Given the description of an element on the screen output the (x, y) to click on. 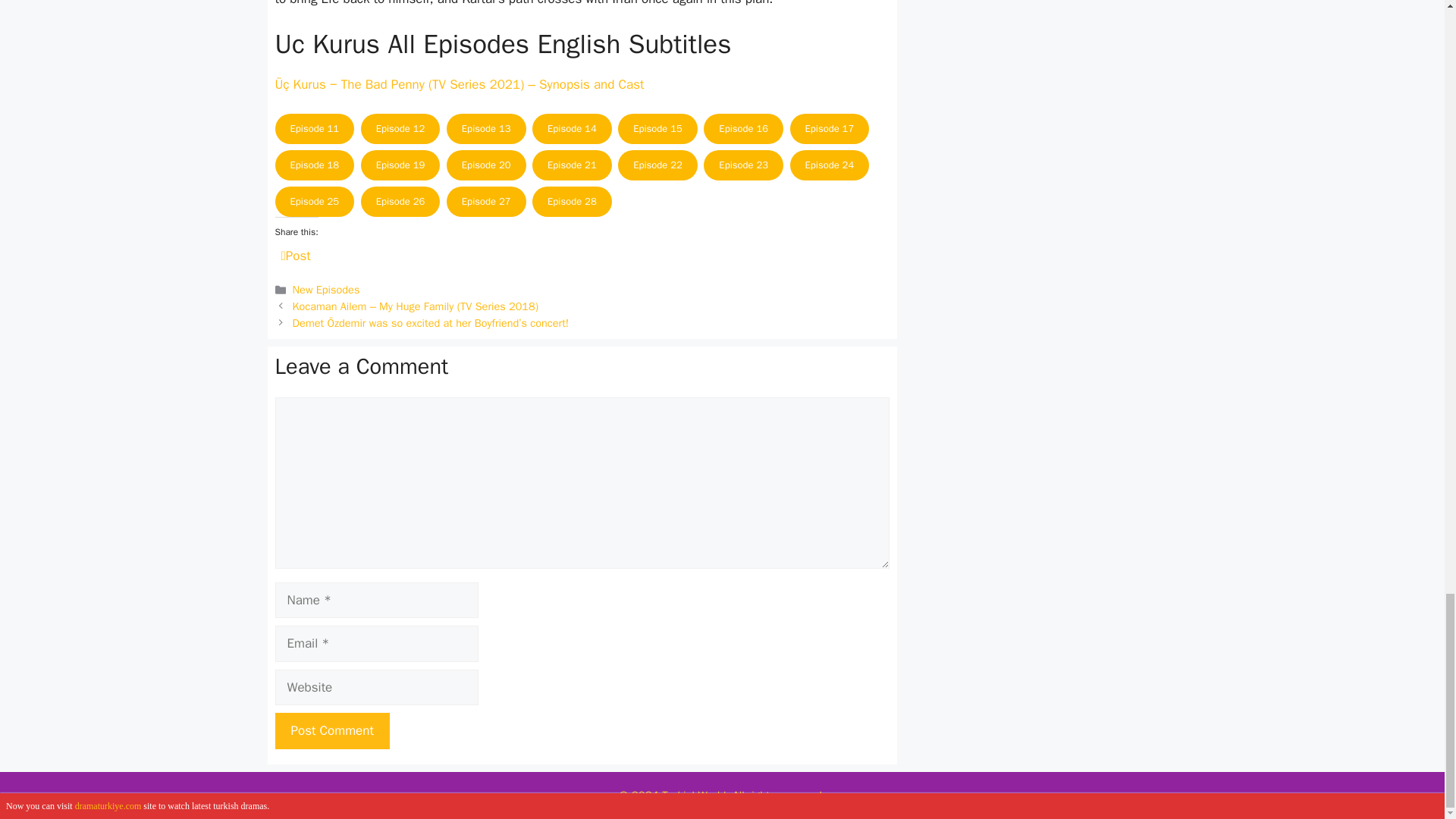
Post Comment (331, 730)
